Given the description of an element on the screen output the (x, y) to click on. 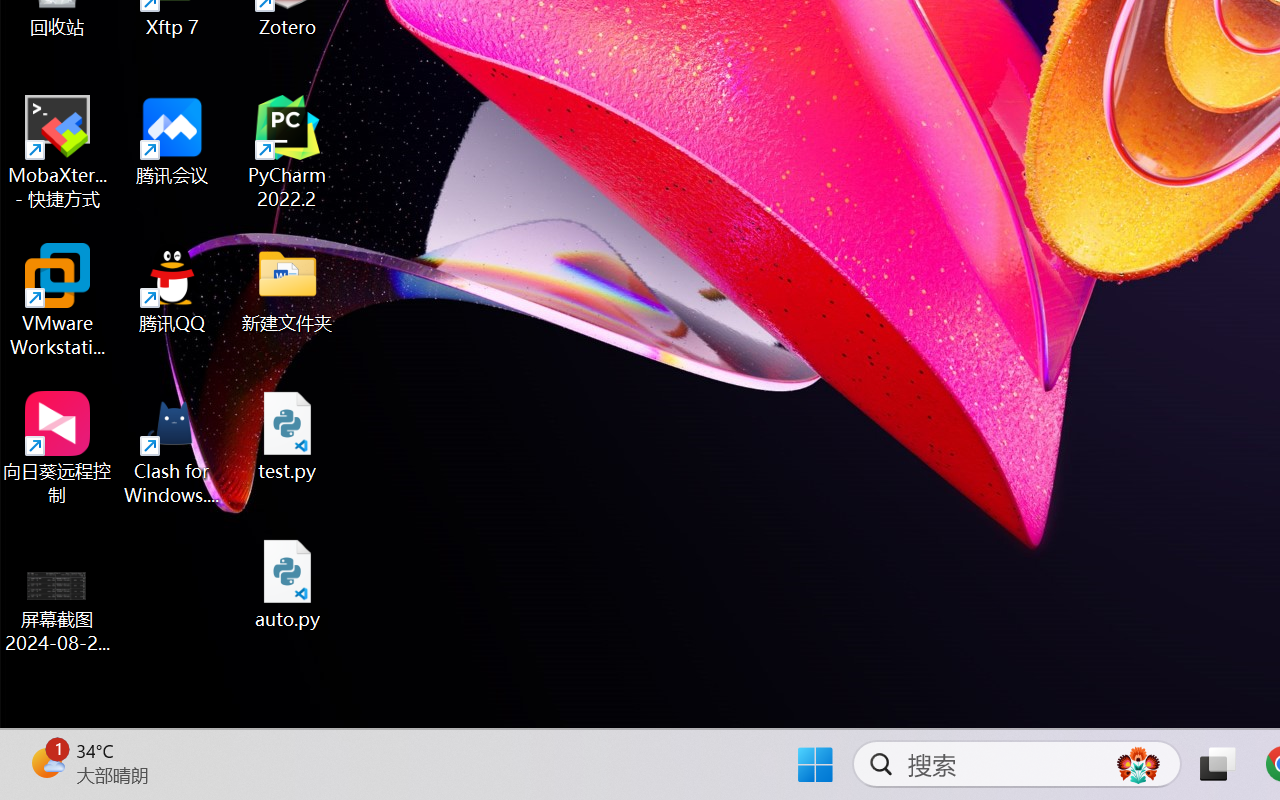
test.py (287, 436)
auto.py (287, 584)
PyCharm 2022.2 (287, 152)
VMware Workstation Pro (57, 300)
